Given the description of an element on the screen output the (x, y) to click on. 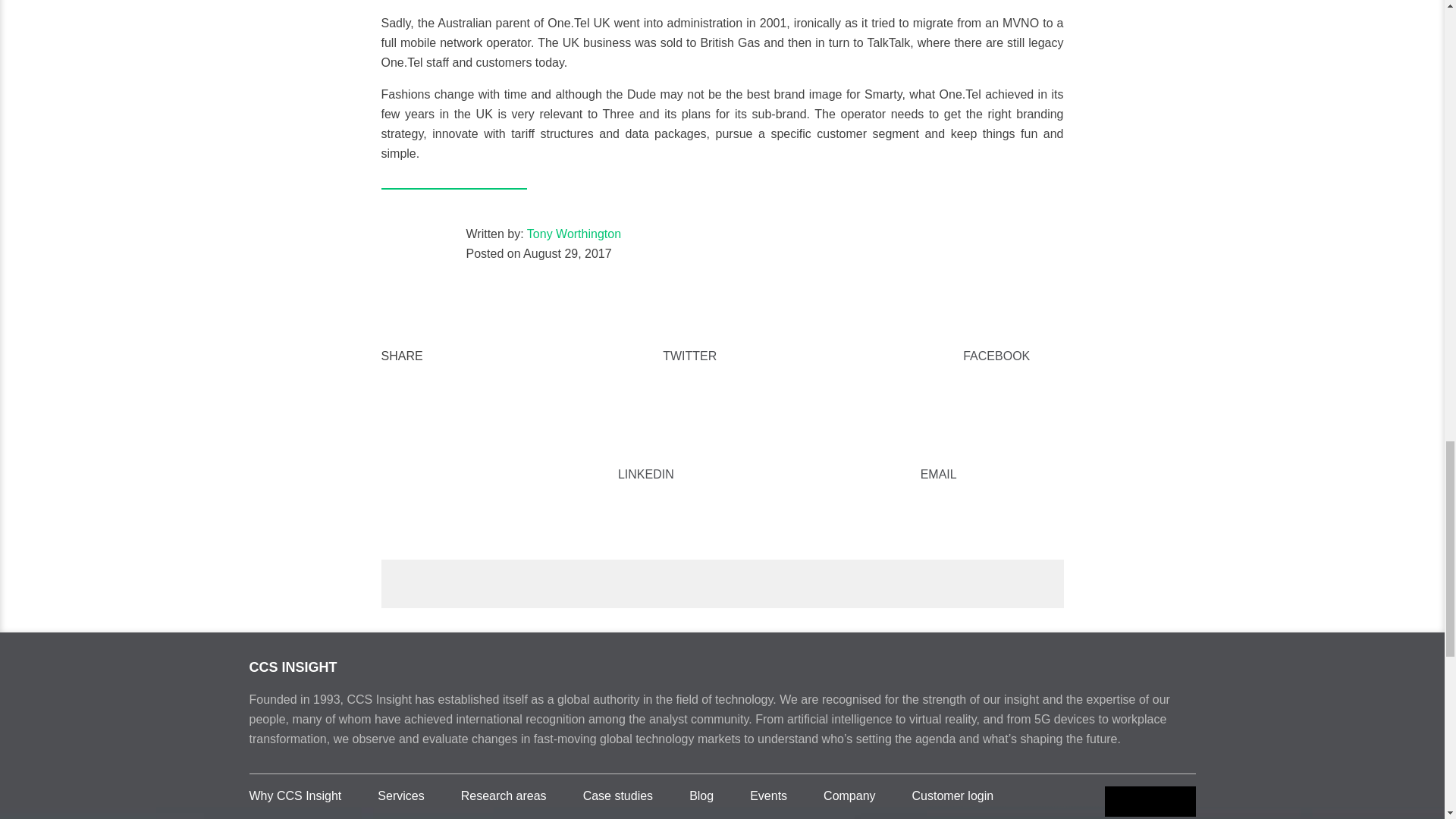
Posts by Tony Worthington (574, 233)
Tony Worthington (574, 233)
TWITTER (574, 355)
